Given the description of an element on the screen output the (x, y) to click on. 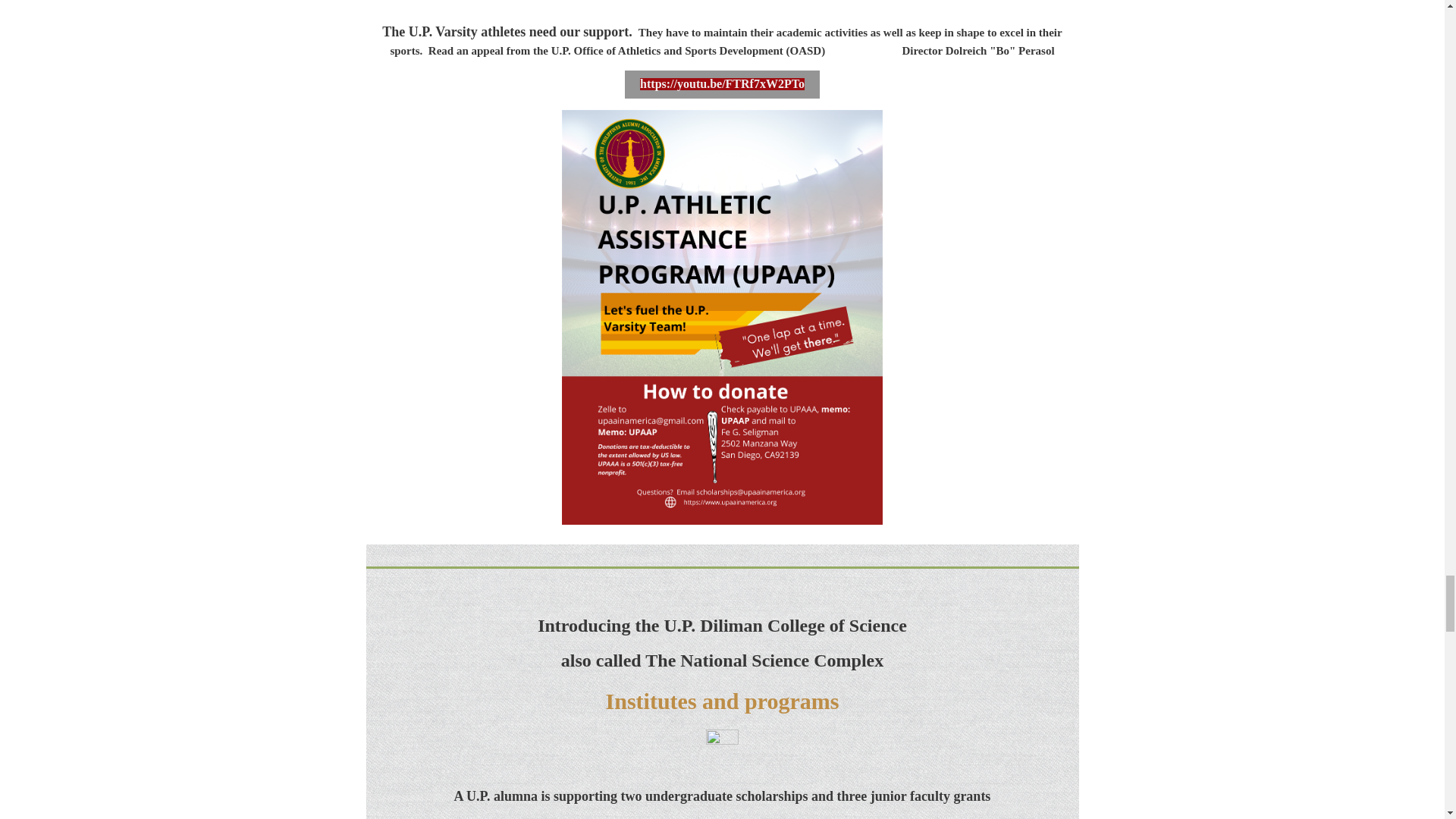
Institutes and programs (722, 705)
